Given the description of an element on the screen output the (x, y) to click on. 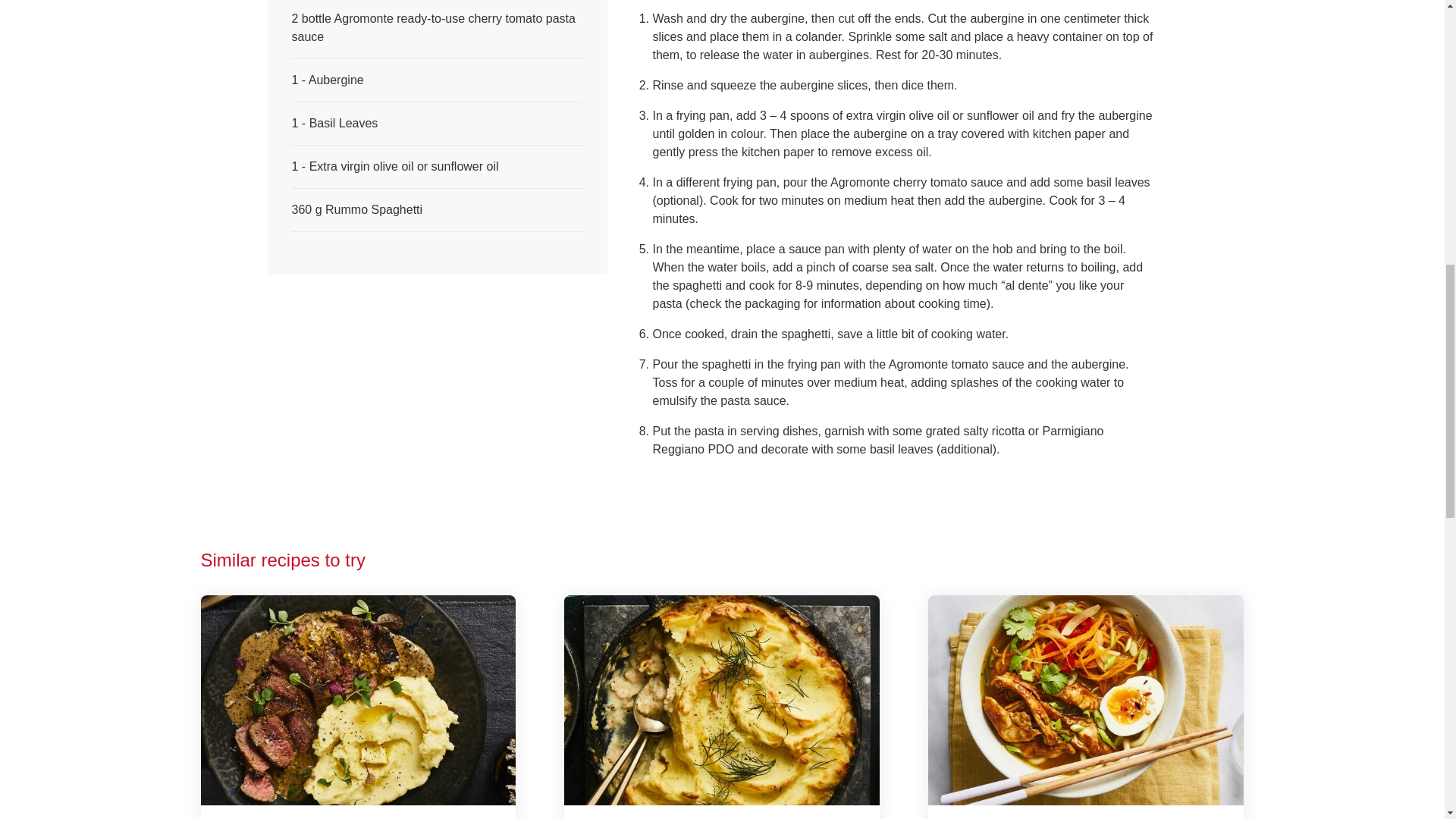
Kevin's Easiest Ever Seafood Pie (721, 707)
